Given the description of an element on the screen output the (x, y) to click on. 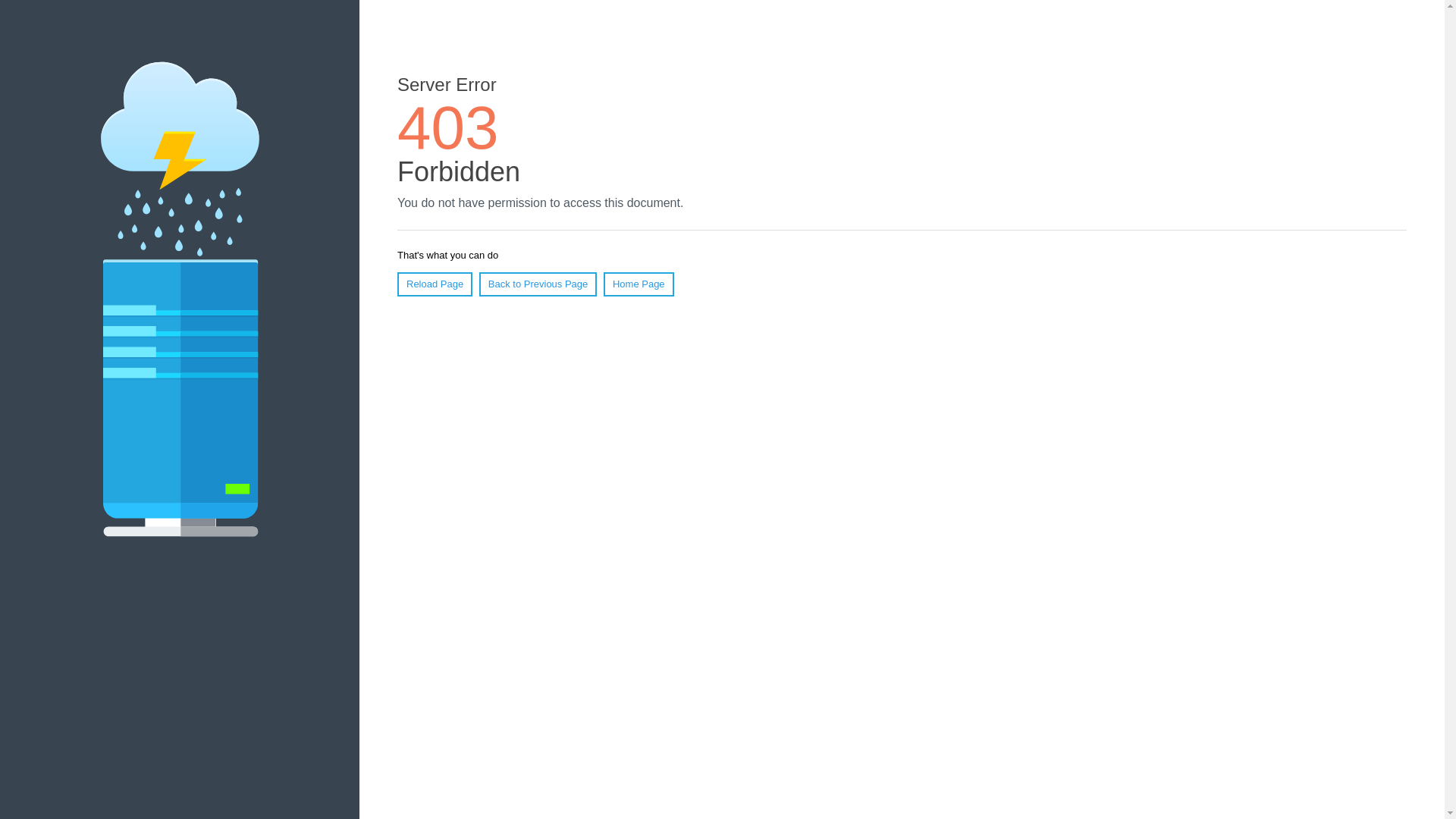
Home Page (639, 283)
Reload Page (434, 283)
Back to Previous Page (537, 283)
